Given the description of an element on the screen output the (x, y) to click on. 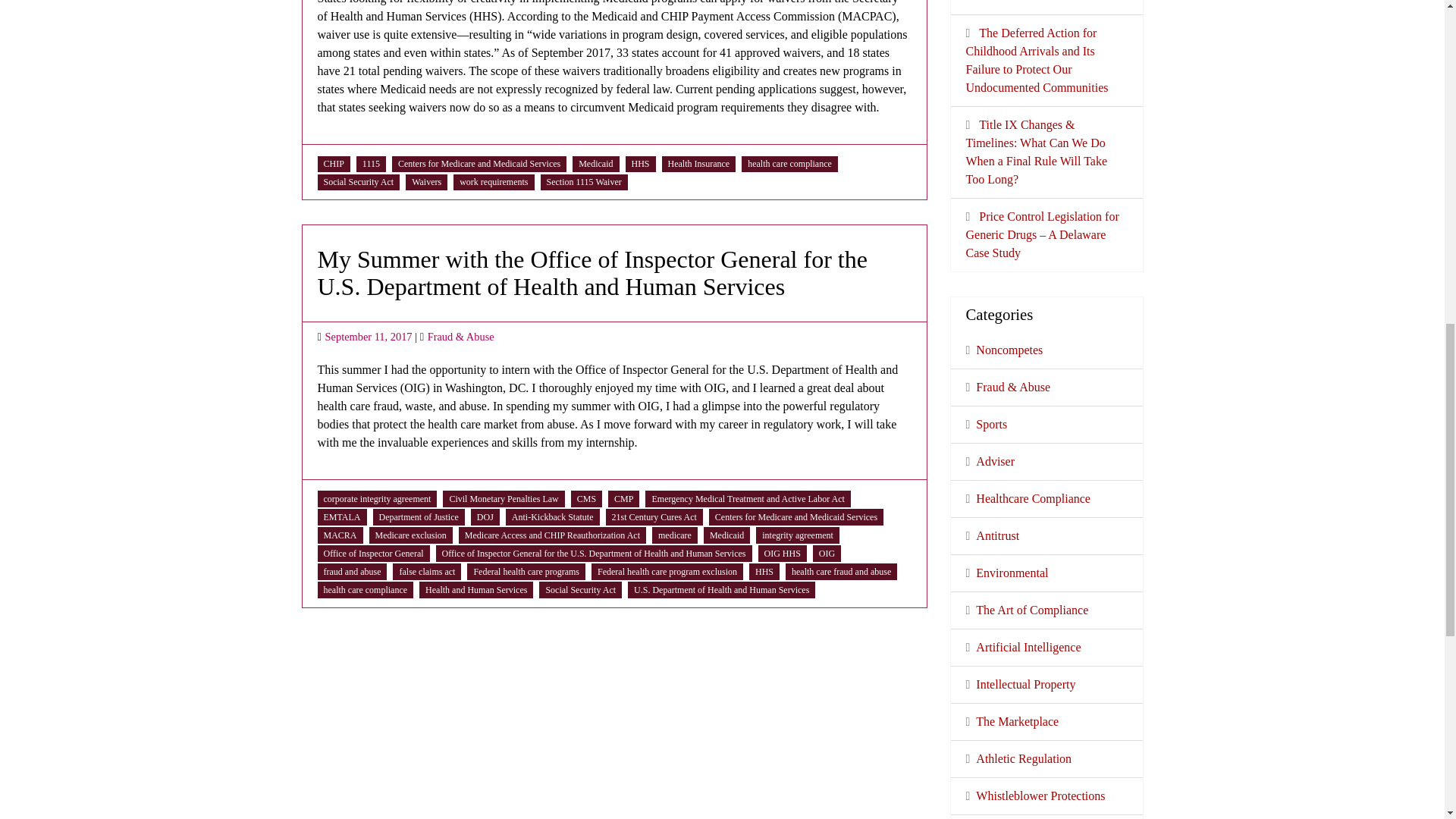
Centers for Medicare and Medicaid Services (478, 163)
HHS (640, 163)
CMS (585, 498)
CHIP (333, 163)
Civil Monetary Penalties Law (502, 498)
September 11, 2017 (368, 336)
Section 1115 Waiver (583, 181)
CMP (623, 498)
Emergency Medical Treatment and Active Labor Act (747, 498)
